Given the description of an element on the screen output the (x, y) to click on. 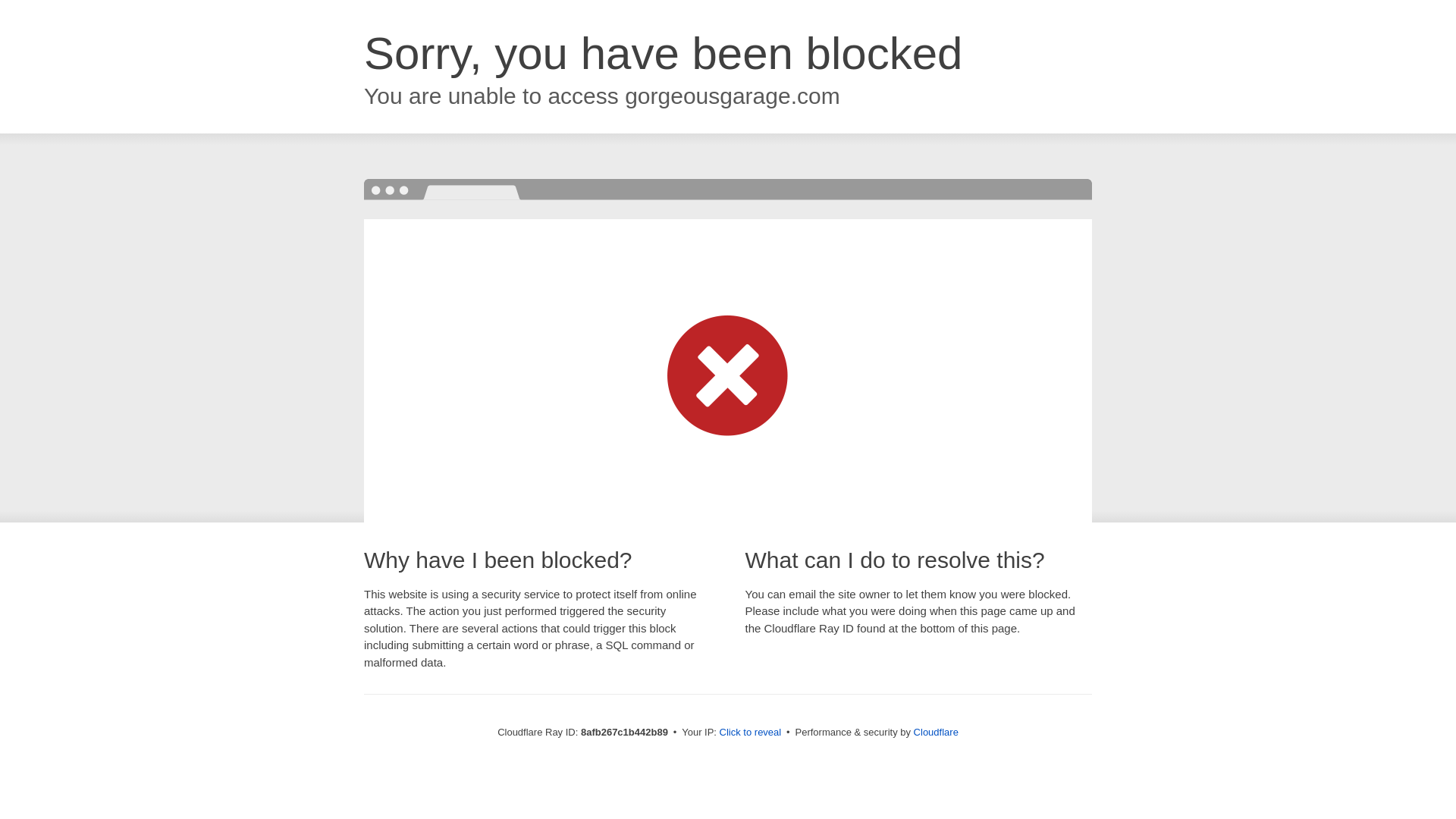
Click to reveal (750, 732)
Cloudflare (936, 731)
